Given the description of an element on the screen output the (x, y) to click on. 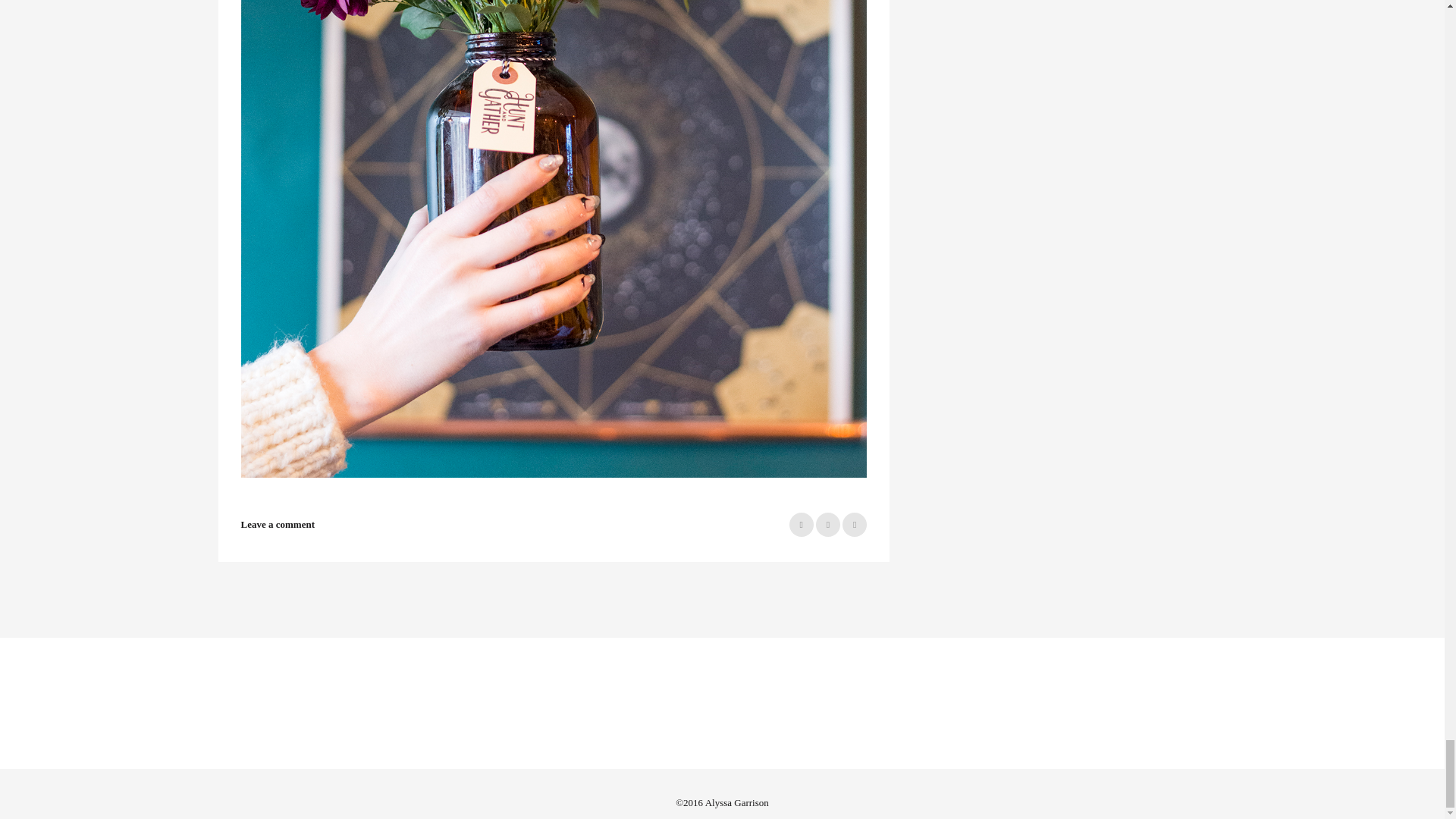
Leave a comment (277, 523)
